Given the description of an element on the screen output the (x, y) to click on. 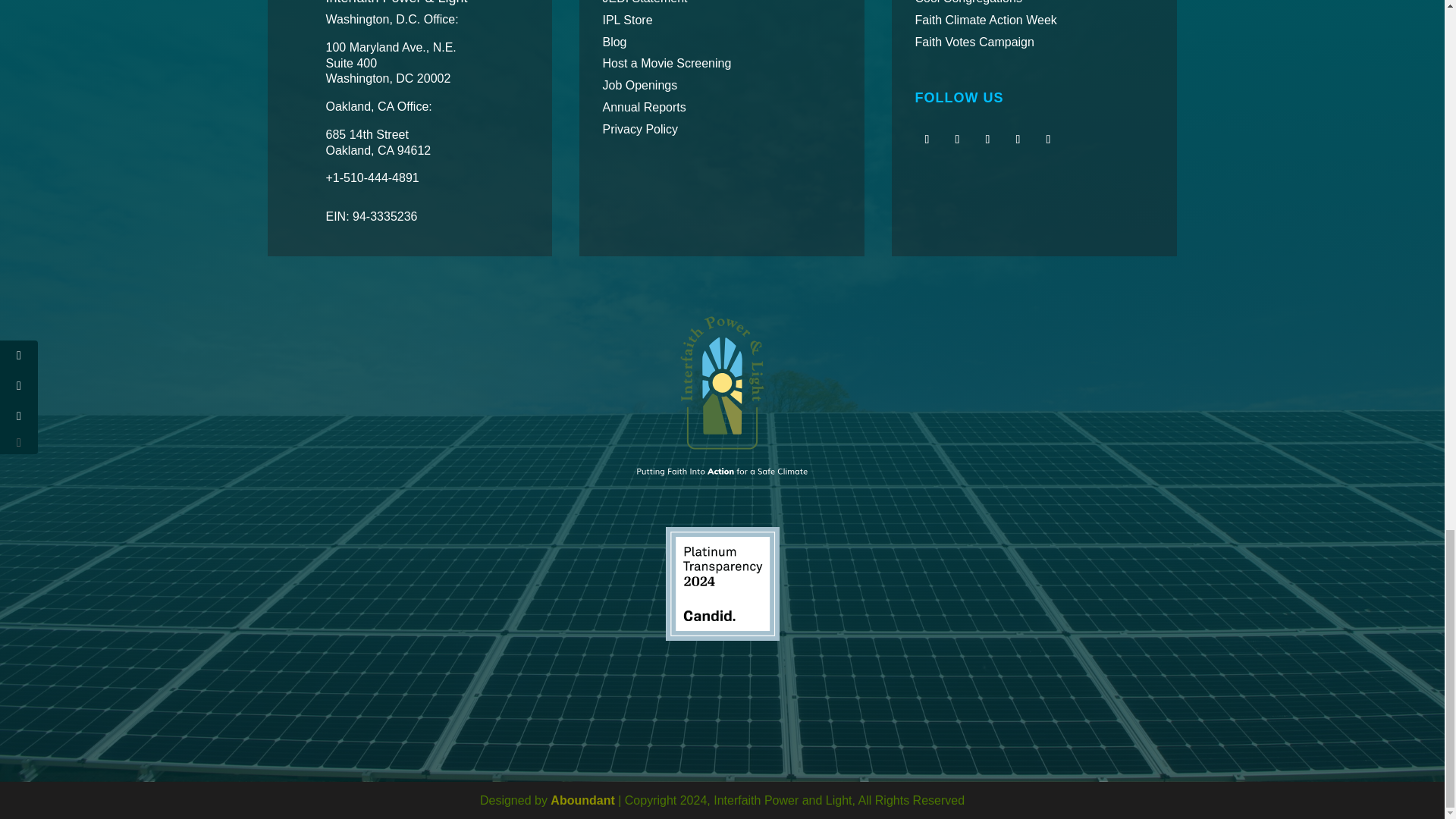
Follow on X (956, 139)
Follow on LinkedIn (1047, 139)
Follow on Instagram (1017, 139)
Follow on Youtube (986, 139)
Follow on Facebook (926, 139)
